Given the description of an element on the screen output the (x, y) to click on. 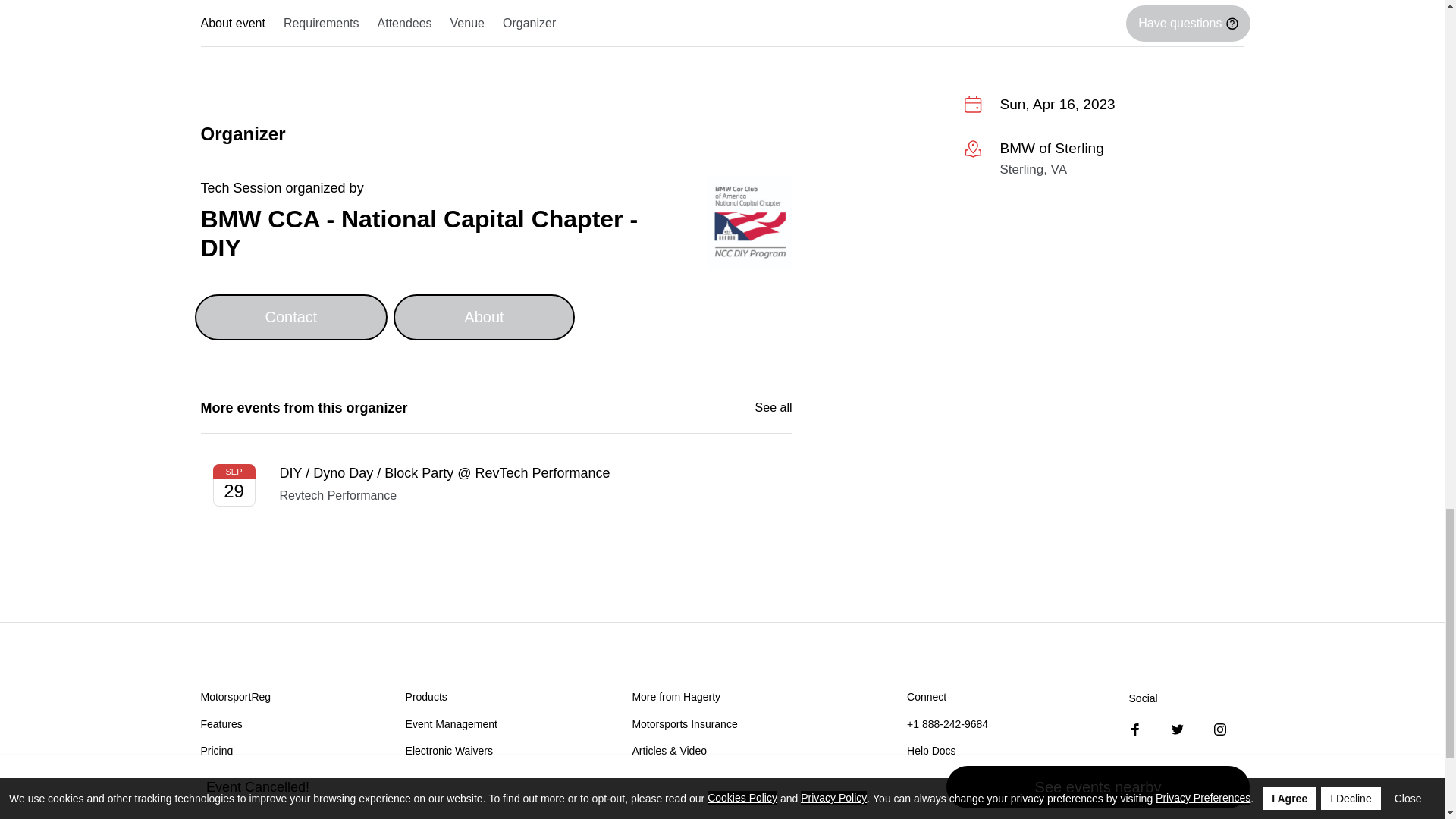
Instagram (1219, 729)
Facebook (1135, 729)
About (483, 317)
Contact (290, 317)
Twitter (1177, 729)
Tech Session (240, 187)
